Given the description of an element on the screen output the (x, y) to click on. 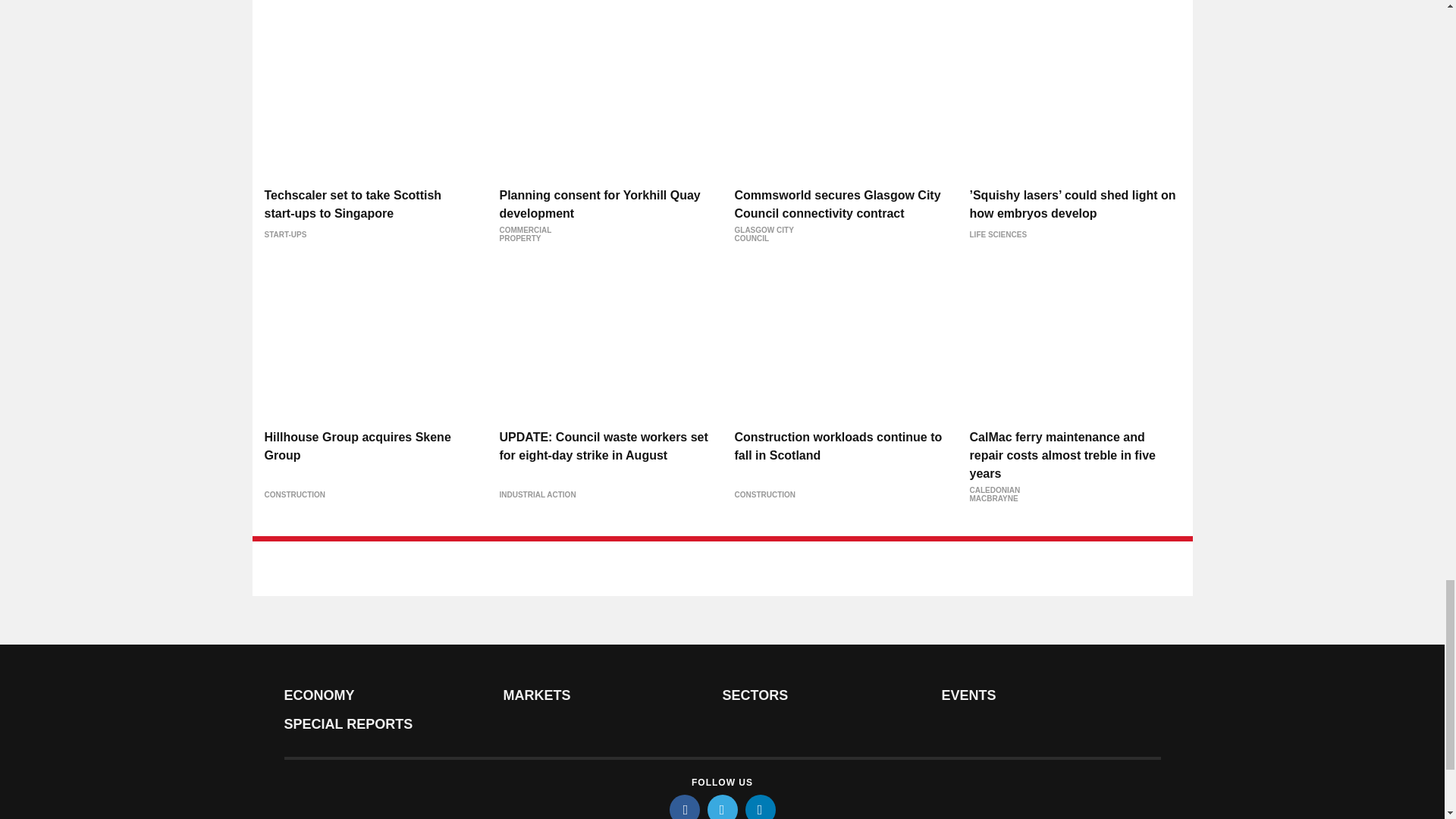
linkedin (759, 806)
twitter (721, 806)
facebook (683, 806)
